Given the description of an element on the screen output the (x, y) to click on. 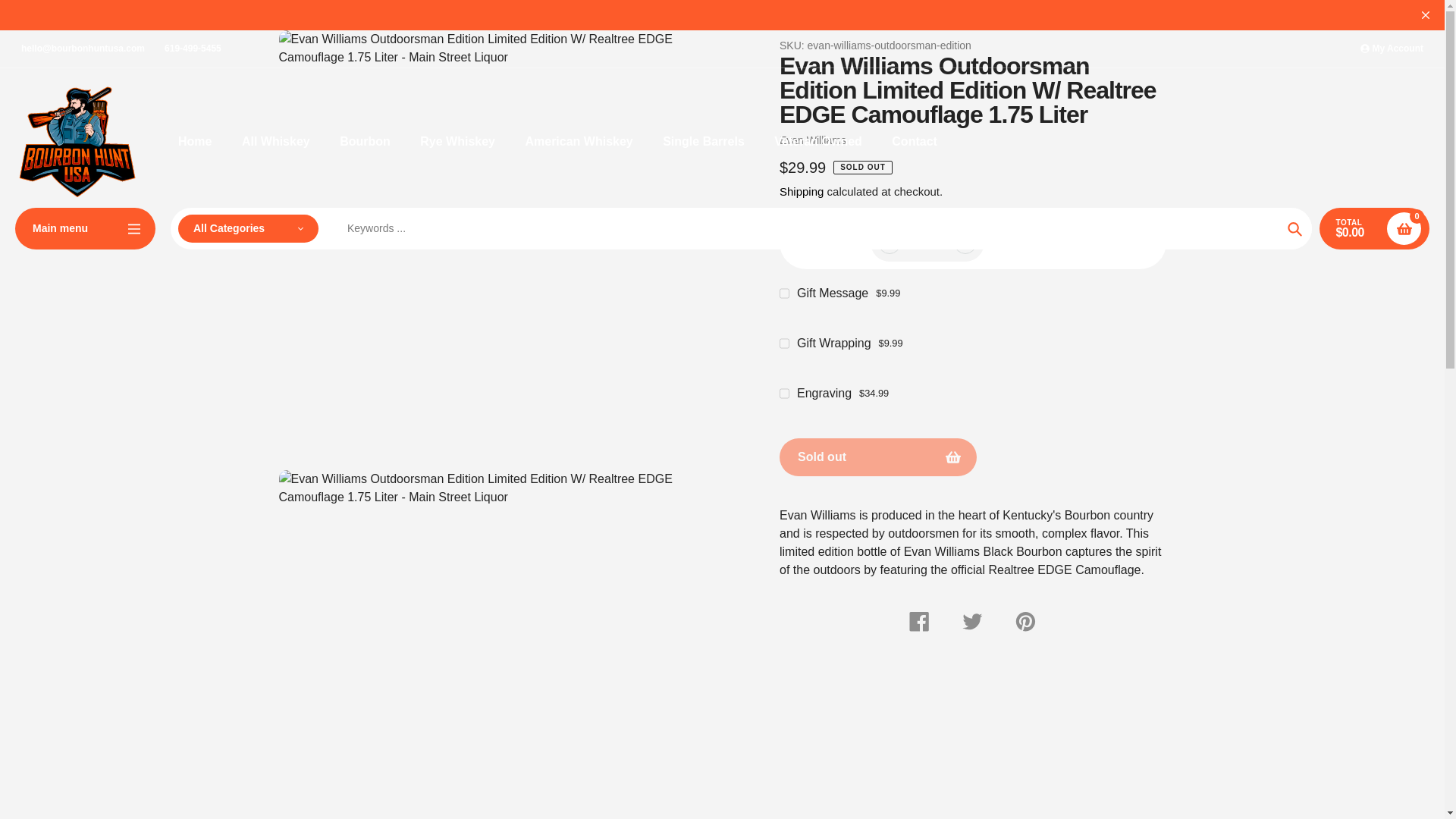
1 (927, 242)
All Whiskey (275, 141)
Contact (914, 141)
American Whiskey (577, 141)
Veteran Owned (817, 141)
Home (194, 141)
All Categories (247, 228)
Single Barrels (703, 141)
Rye Whiskey (457, 141)
619-499-5455 (192, 48)
Main menu (84, 228)
Bourbon (364, 141)
My Account (1391, 48)
